Given the description of an element on the screen output the (x, y) to click on. 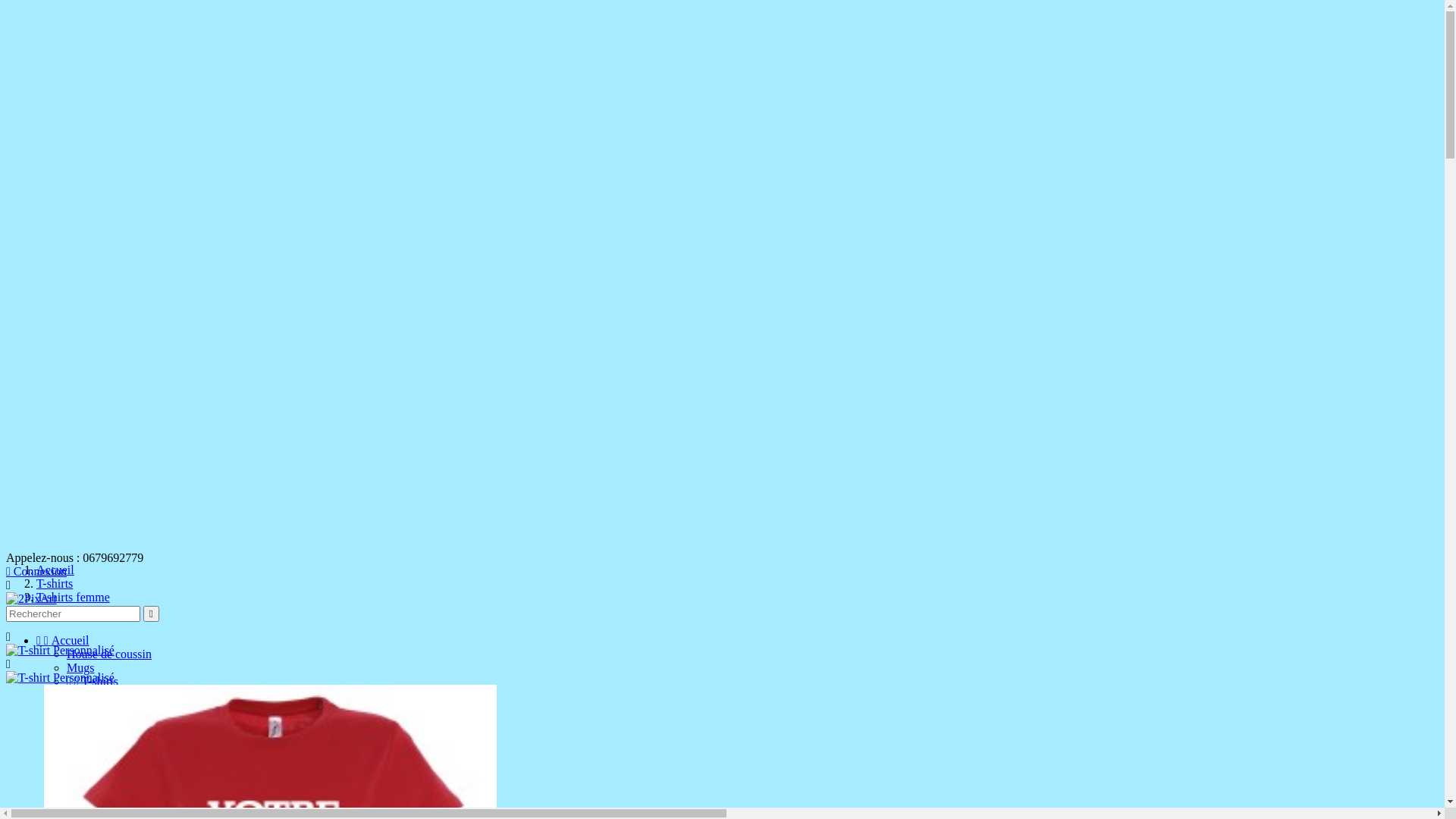
T-shirts femme Element type: text (133, 694)
Miroir de poche Element type: text (136, 776)
Ardoise Element type: text (116, 762)
T-shirts Element type: text (54, 583)
Accueil Element type: text (55, 569)
House de coussin Element type: text (108, 653)
Masque Covid Element type: text (102, 735)
T-shirts femme Element type: text (72, 596)
Mugs Element type: text (80, 667)
Magnets Element type: text (117, 790)
